Given the description of an element on the screen output the (x, y) to click on. 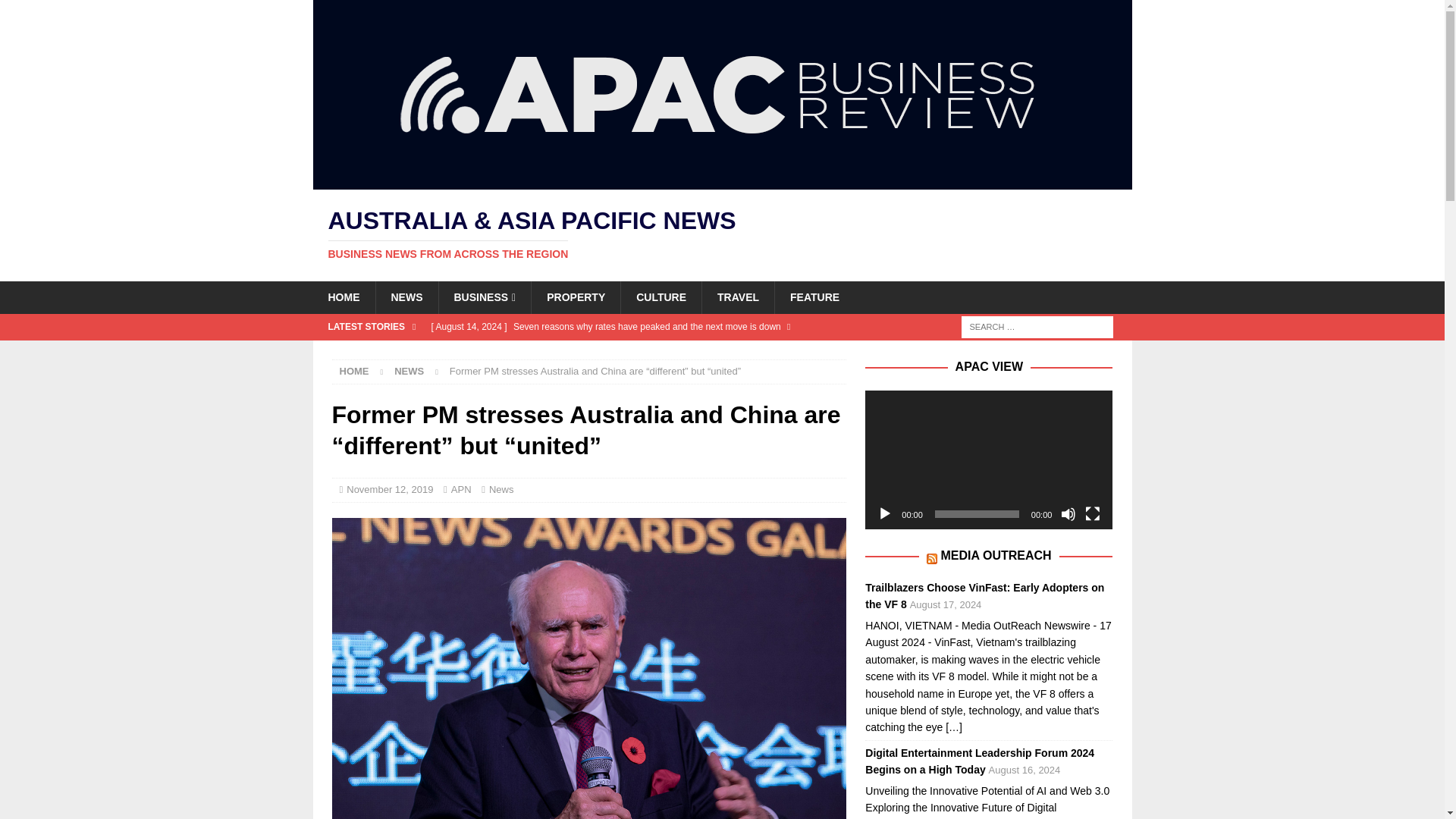
HOME (343, 296)
CULTURE (660, 296)
NEWS (408, 370)
FEATURE (814, 296)
November 12, 2019 (389, 489)
HOME (354, 370)
PROPERTY (575, 296)
News (501, 489)
NEWS (406, 296)
